Given the description of an element on the screen output the (x, y) to click on. 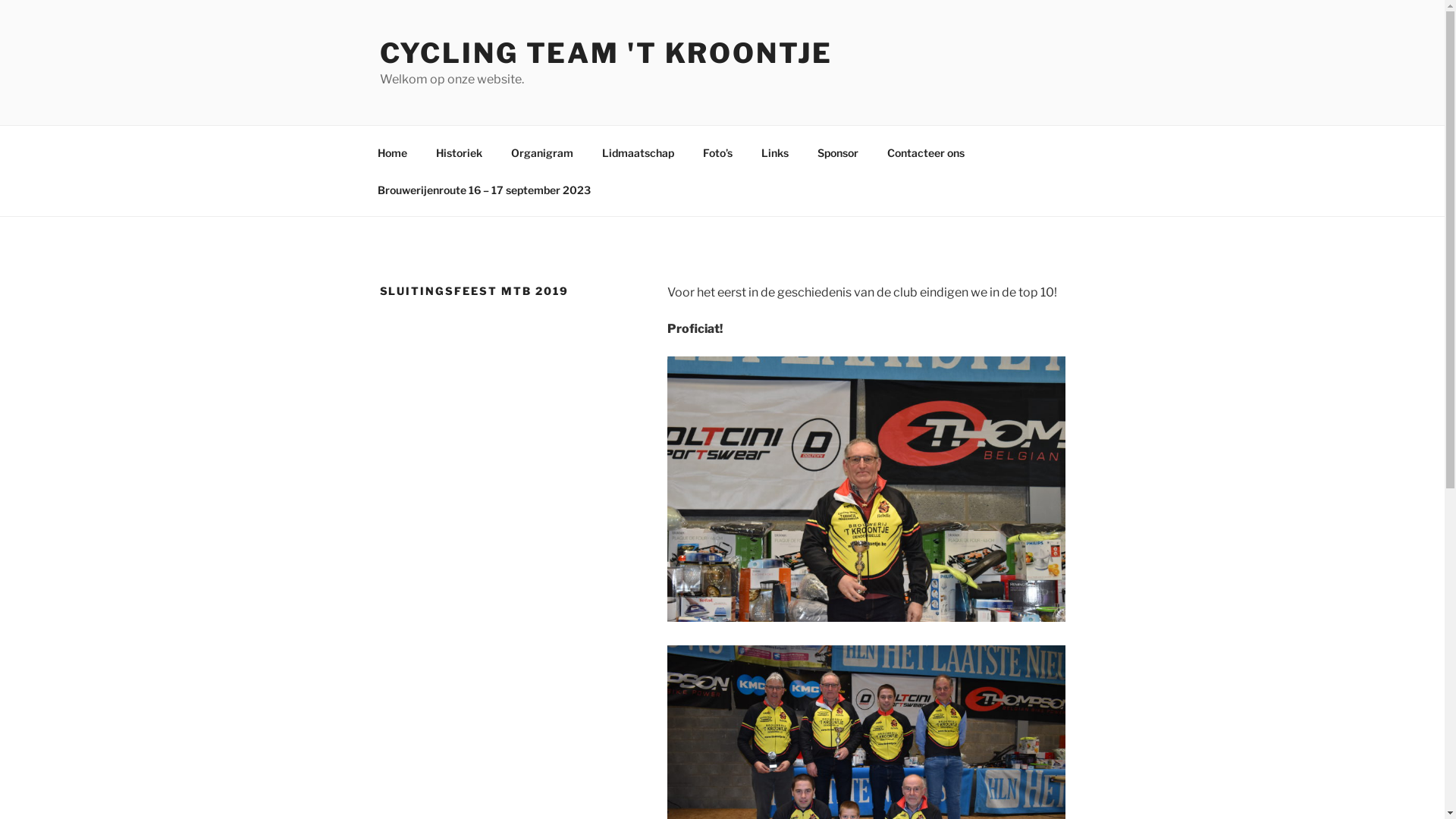
Historiek Element type: text (459, 151)
Home Element type: text (392, 151)
CYCLING TEAM 'T KROONTJE Element type: text (605, 52)
Lidmaatschap Element type: text (637, 151)
Sponsor Element type: text (837, 151)
Contacteer ons Element type: text (925, 151)
Organigram Element type: text (541, 151)
Links Element type: text (774, 151)
